Given the description of an element on the screen output the (x, y) to click on. 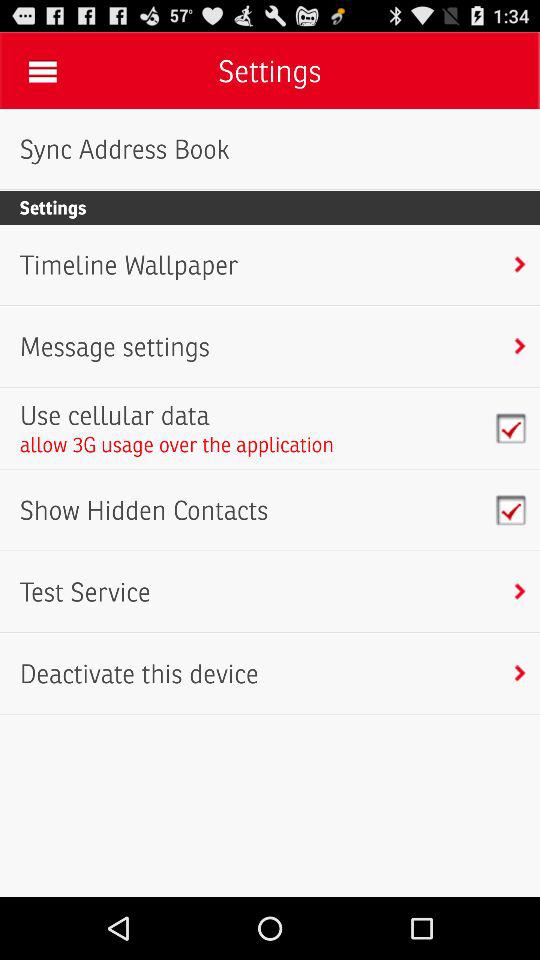
click the deactivate this device (138, 673)
